Given the description of an element on the screen output the (x, y) to click on. 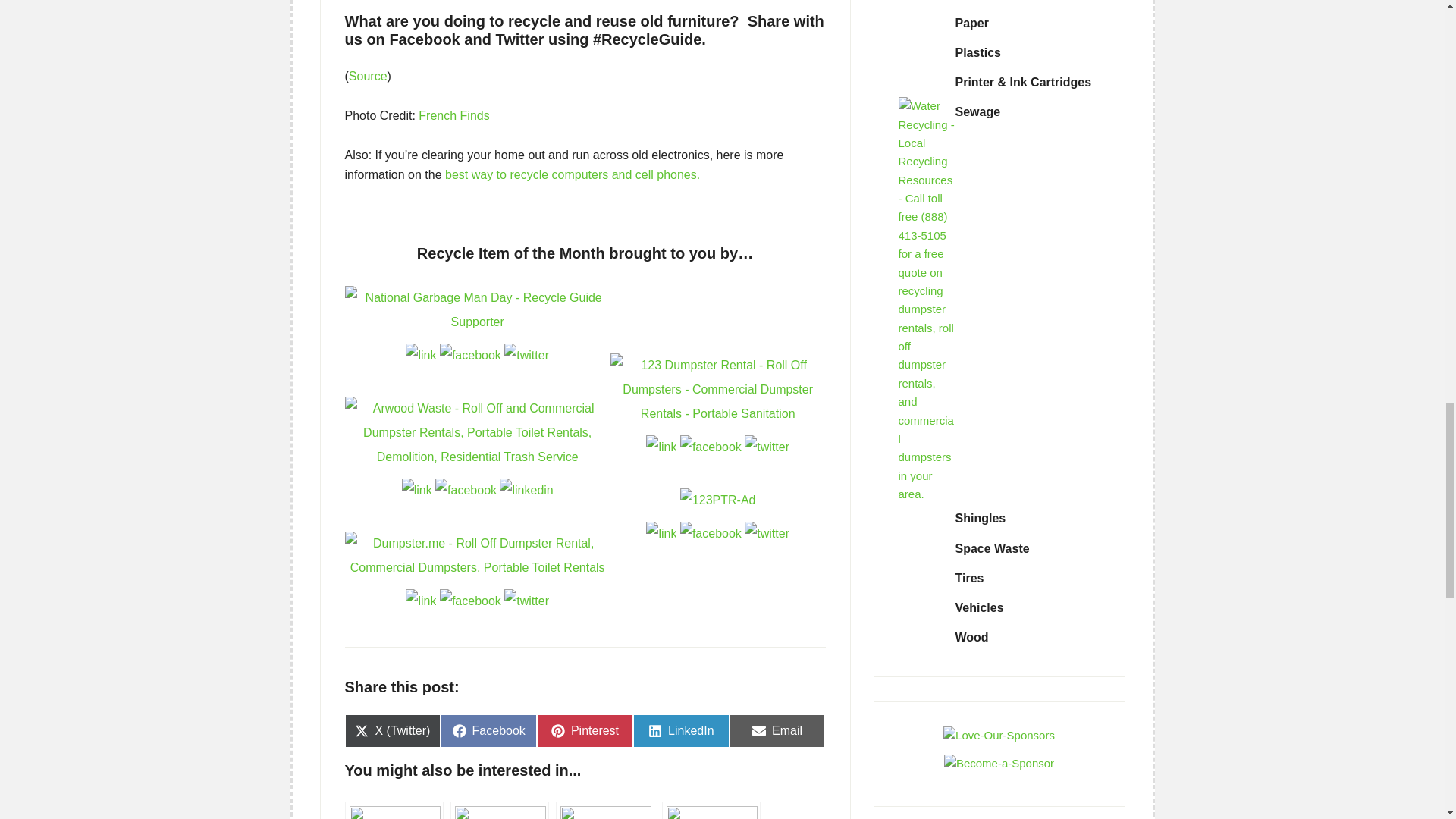
Source (368, 75)
Clothes (498, 809)
best way to recycle computers and cell phones. (572, 174)
123 Dumpster Rental - Recycle Guide Supporter (717, 388)
Drywall (604, 809)
Dumpster.me - Recycle Guide Supporter (476, 554)
National Garbage Man Day - Recycle Guide Supporter (476, 309)
French Finds (454, 115)
Arwood Waste - Recycle Guide Supporter (476, 431)
Furniture (392, 809)
